Given the description of an element on the screen output the (x, y) to click on. 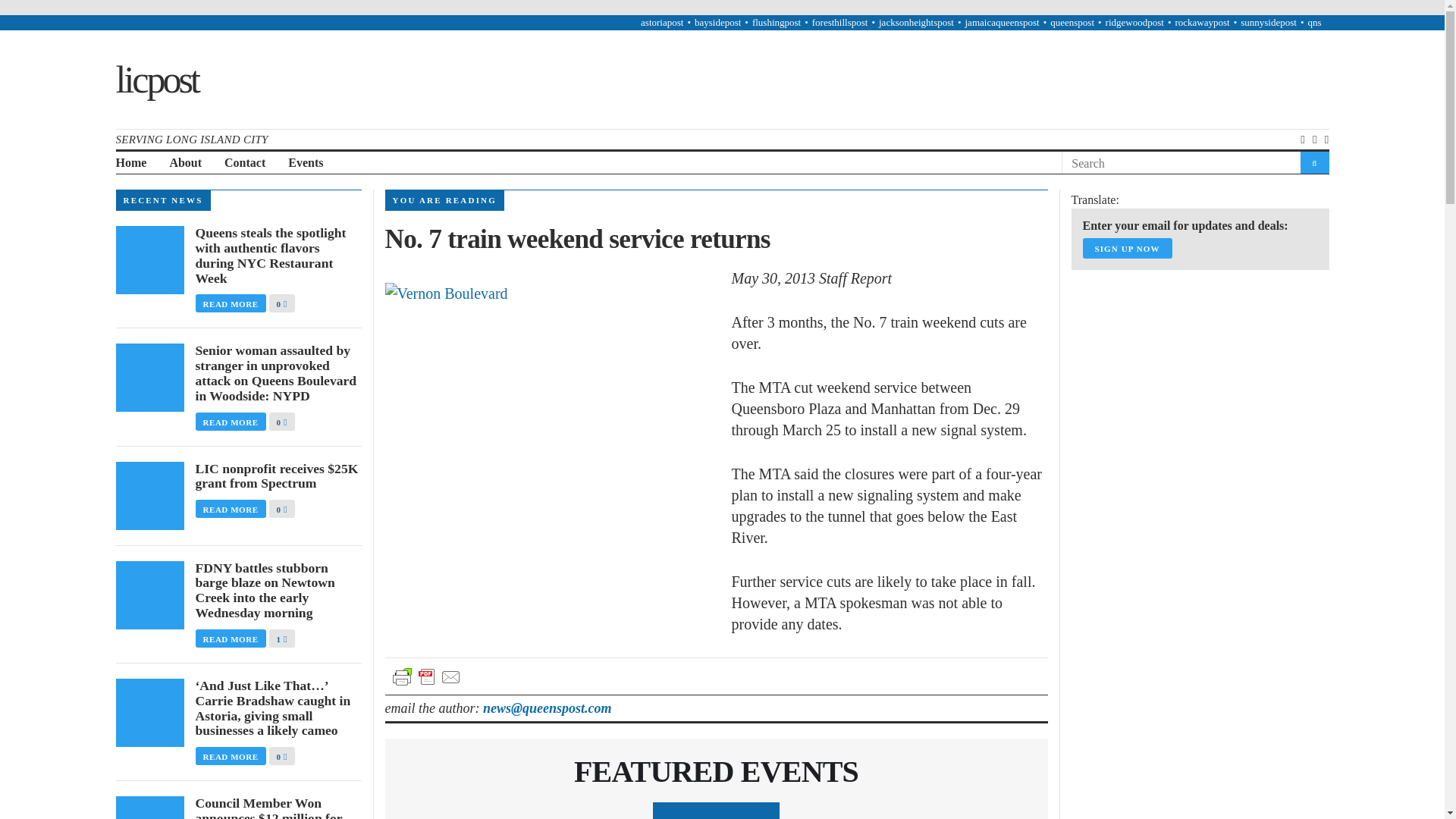
licpost (155, 78)
foresthillspost (839, 21)
jacksonheightspost (916, 21)
ridgewoodpost (1134, 21)
jamaicaqueenspost (1001, 21)
queenspost (1071, 21)
Events (305, 163)
POST AN EVENT (715, 810)
sunnysidepost (1268, 21)
Contact (244, 163)
